Given the description of an element on the screen output the (x, y) to click on. 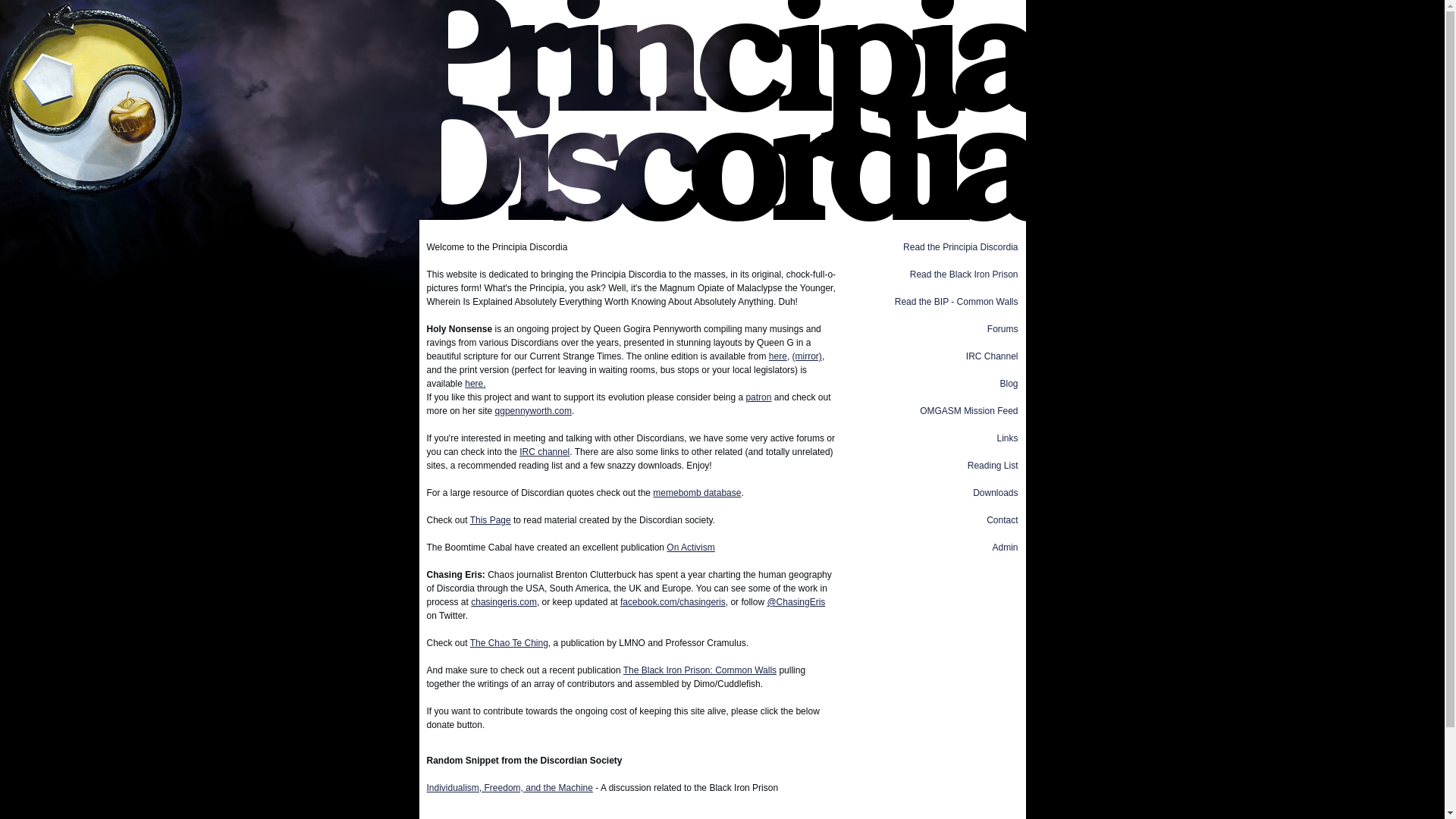
here (777, 356)
This Page (490, 520)
here. (474, 383)
IRC channel (544, 451)
memebomb database (696, 492)
Links (1006, 438)
OMGASM Mission Feed (968, 410)
patron (758, 397)
Read the Black Iron Prison (963, 274)
The Chao Te Ching (509, 643)
Downloads (994, 492)
Individualism, Freedom, and the Machine (509, 787)
Forums (1002, 328)
On Activism (690, 547)
Contact (1002, 520)
